Given the description of an element on the screen output the (x, y) to click on. 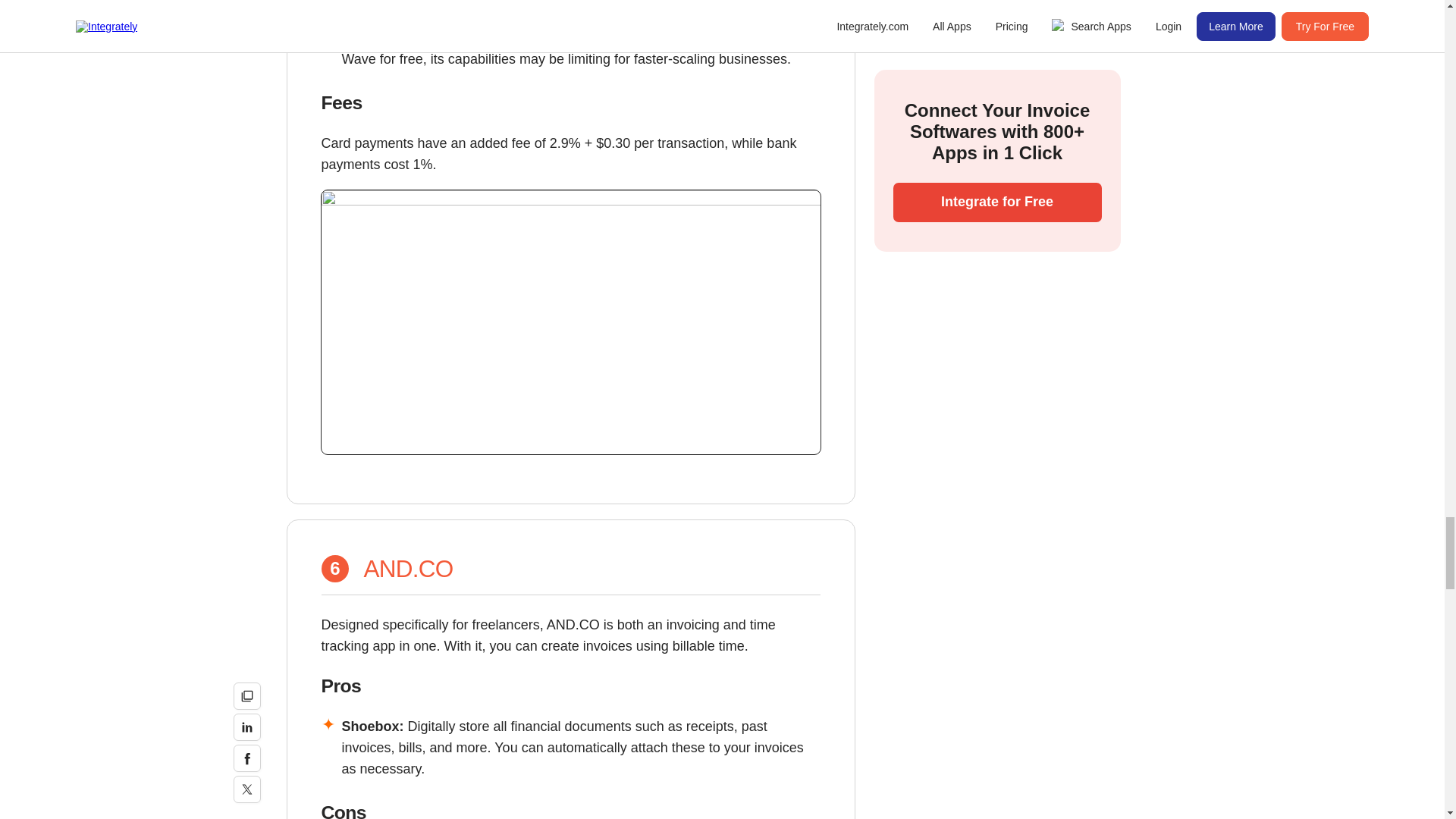
AND.CO (408, 568)
